Given the description of an element on the screen output the (x, y) to click on. 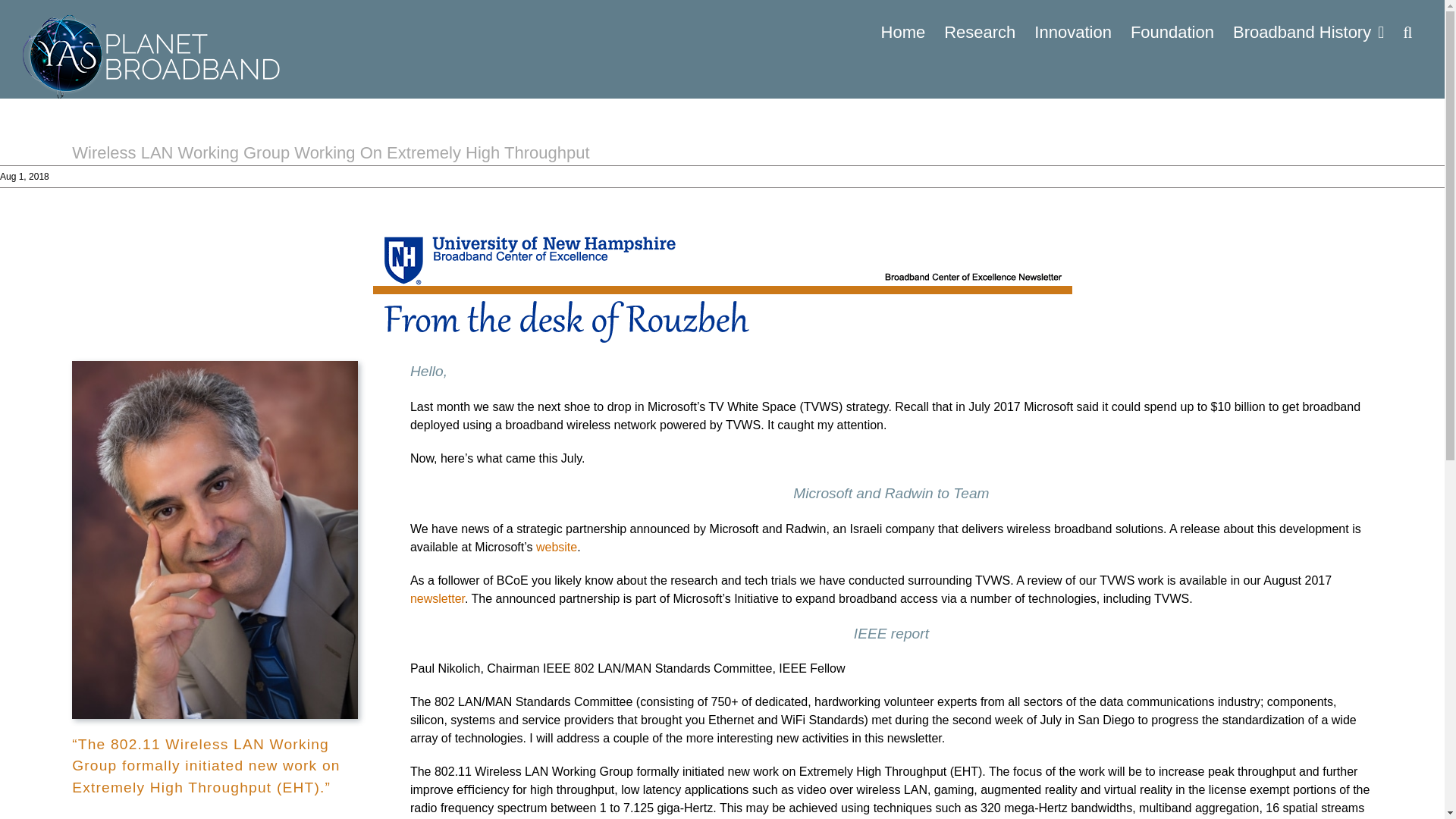
Broadband History (1308, 32)
Home (902, 32)
Innovation (1073, 32)
Research (979, 32)
Foundation (1172, 32)
